Given the description of an element on the screen output the (x, y) to click on. 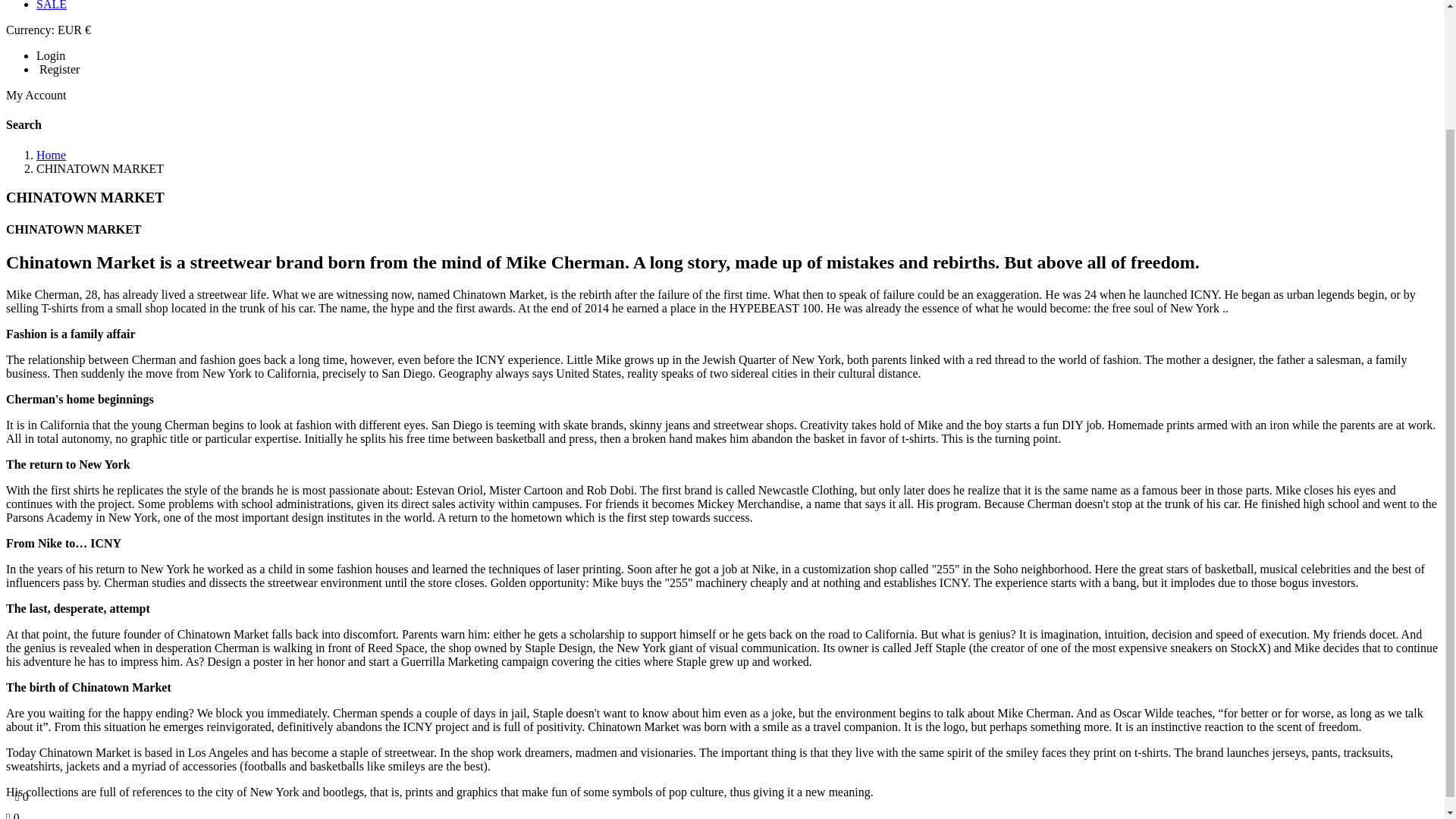
 Register (58, 69)
Home (50, 154)
Account (35, 94)
SALE (51, 5)
Currency (47, 29)
Login (50, 55)
Register (58, 69)
Log in to your customer account (50, 55)
My Account (35, 94)
